Given the description of an element on the screen output the (x, y) to click on. 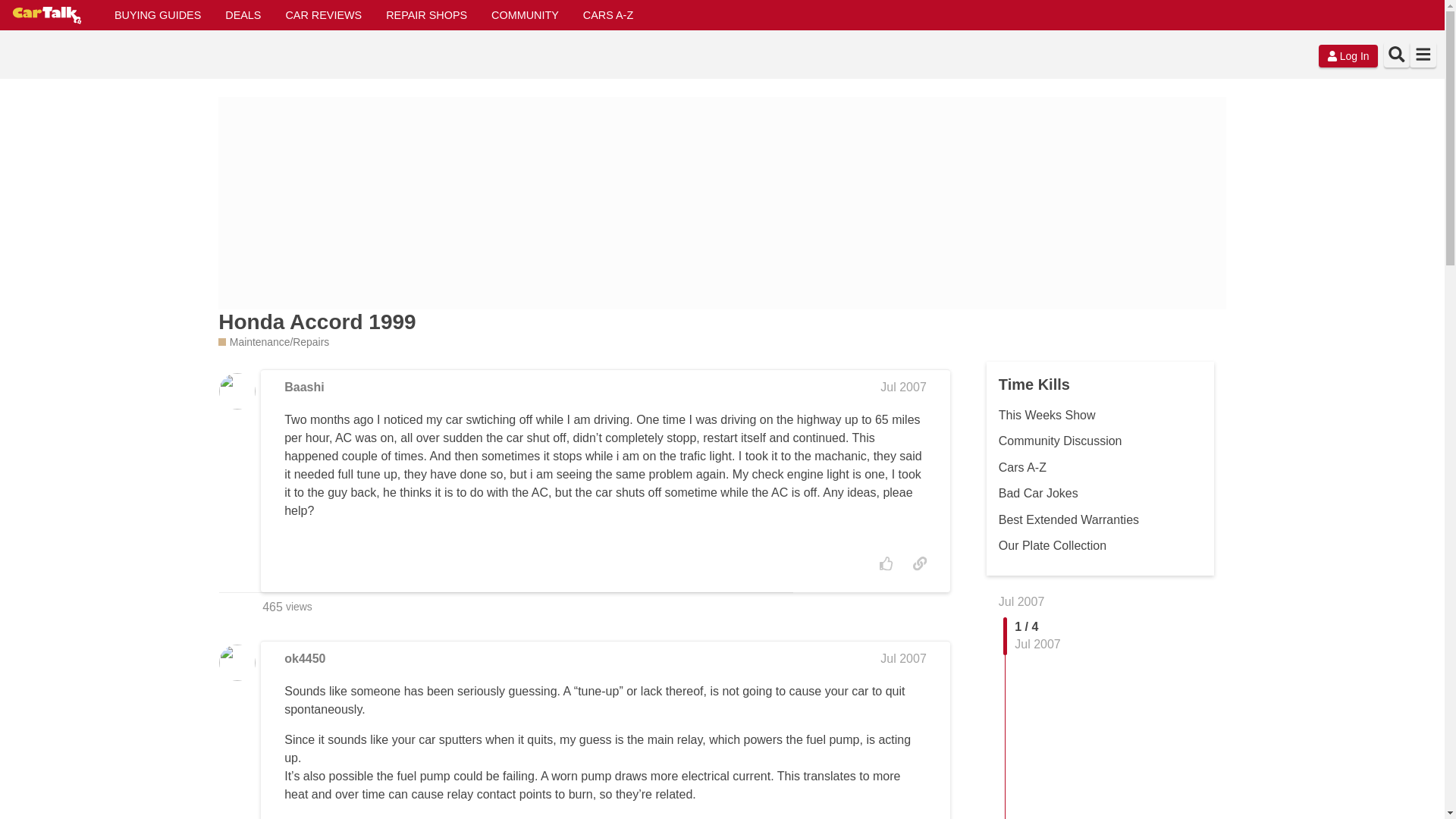
CARS A-Z (607, 15)
Post date (903, 658)
Jul 2007 (903, 386)
CAR REVIEWS (323, 15)
like this post (886, 563)
Log In (1348, 56)
menu (1422, 54)
Bad Car Jokes (1038, 492)
Cars A-Z (1022, 467)
REPAIR SHOPS (426, 15)
